Given the description of an element on the screen output the (x, y) to click on. 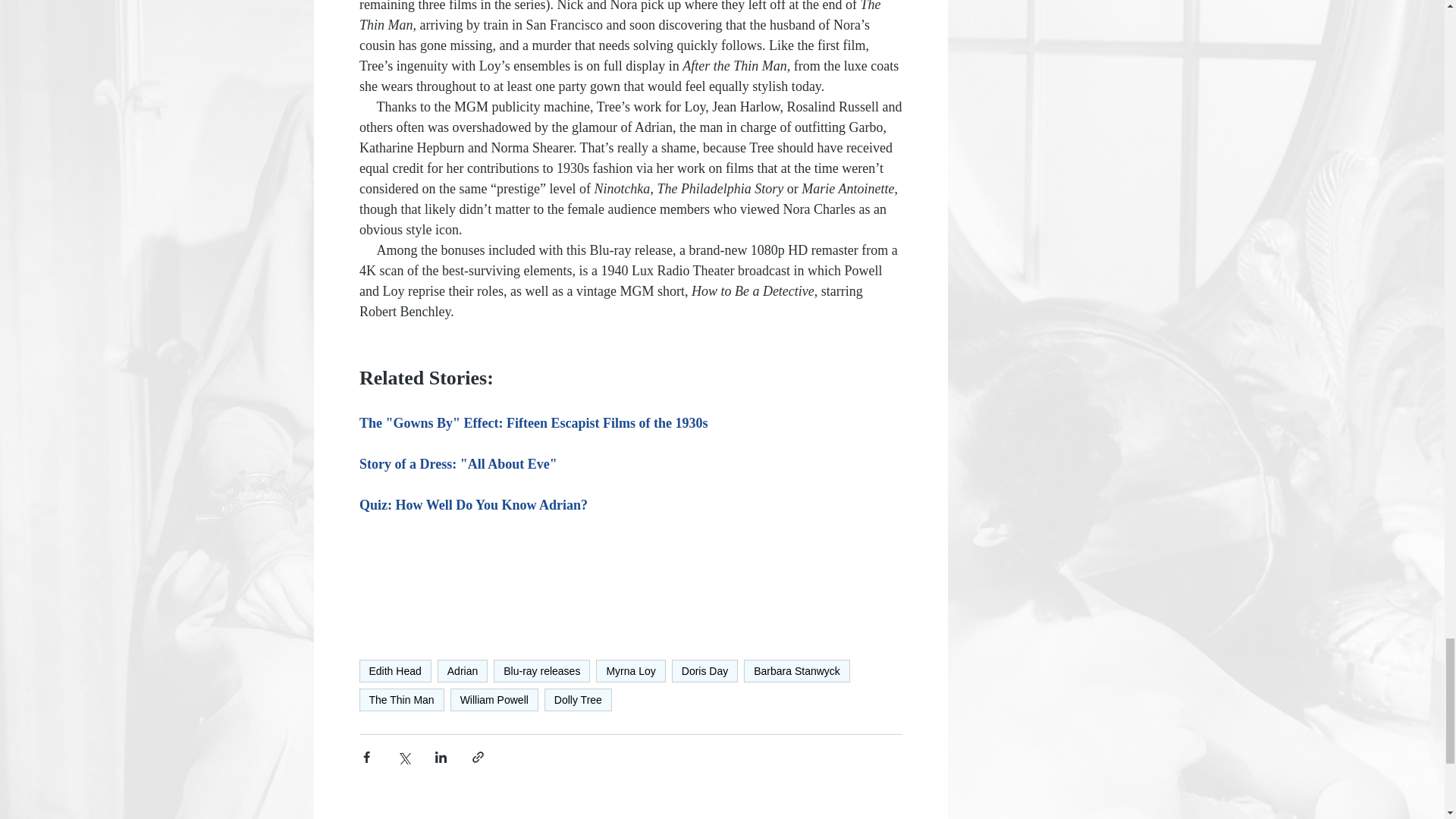
Myrna Loy (630, 671)
The Thin Man (401, 699)
Barbara Stanwyck (797, 671)
Story of a Dress: "All About Eve" (458, 463)
The "Gowns By" Effect: Fifteen Escapist Films of the 1930s (533, 422)
Edith Head (394, 671)
Blu-ray releases (541, 671)
William Powell (493, 699)
Adrian (462, 671)
Dolly Tree (577, 699)
Doris Day (704, 671)
Quiz: How Well Do You Know Adrian? (473, 504)
